Given the description of an element on the screen output the (x, y) to click on. 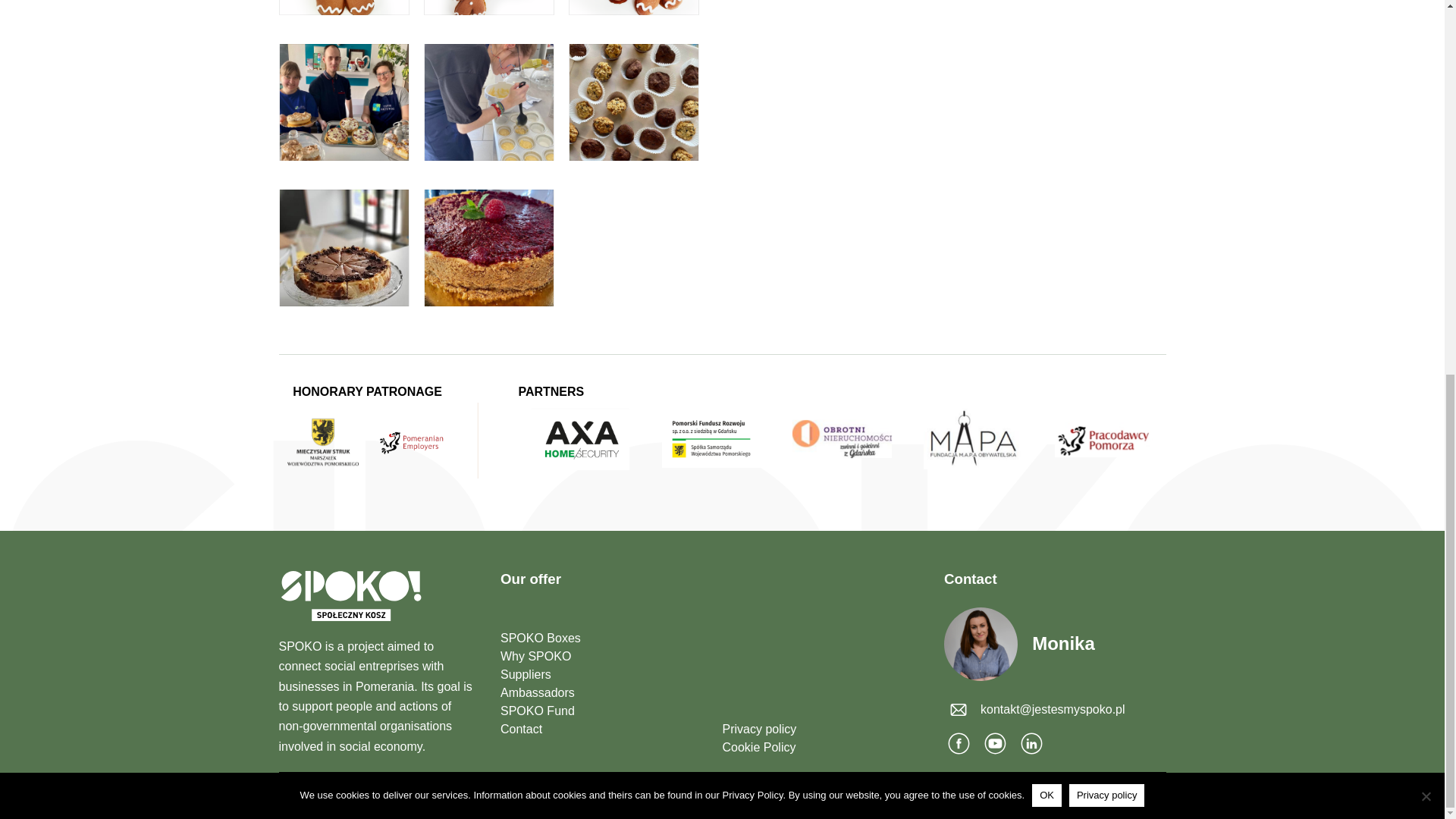
Cookie Policy (821, 747)
Ambassadors (600, 692)
Why SPOKO (600, 656)
SPOKO Boxes (600, 638)
Contact (600, 729)
Suppliers (600, 674)
Why SPOKO (600, 656)
SPOKO Boxes (600, 638)
Cookie Policy (821, 747)
SPOKO Fund (600, 710)
Ambassadors (600, 692)
Privacy policy (821, 729)
SPOKO Fund (600, 710)
OK (1046, 108)
